Given the description of an element on the screen output the (x, y) to click on. 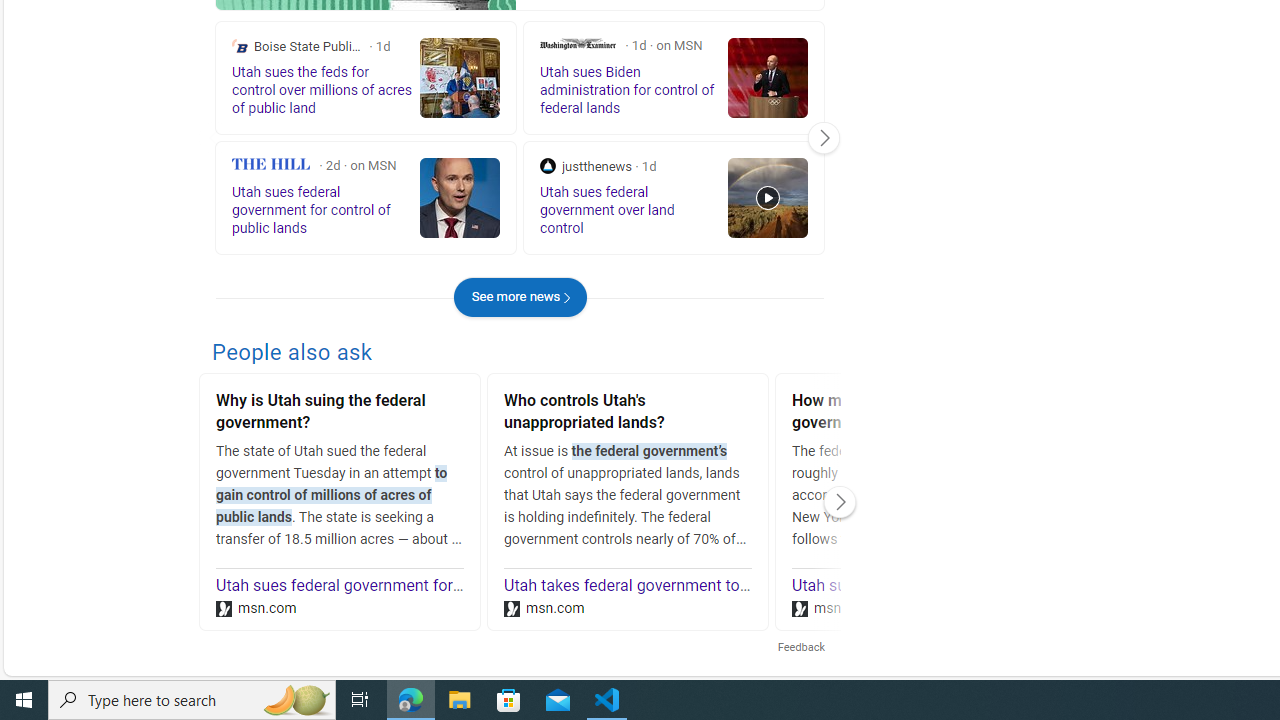
justthenews (547, 165)
See more news (520, 296)
Who controls Utah's unappropriated lands? (628, 414)
Utah sues federal government for control of public lands (415, 586)
Utah sues Biden administration for control of federal lands (998, 586)
